Given the description of an element on the screen output the (x, y) to click on. 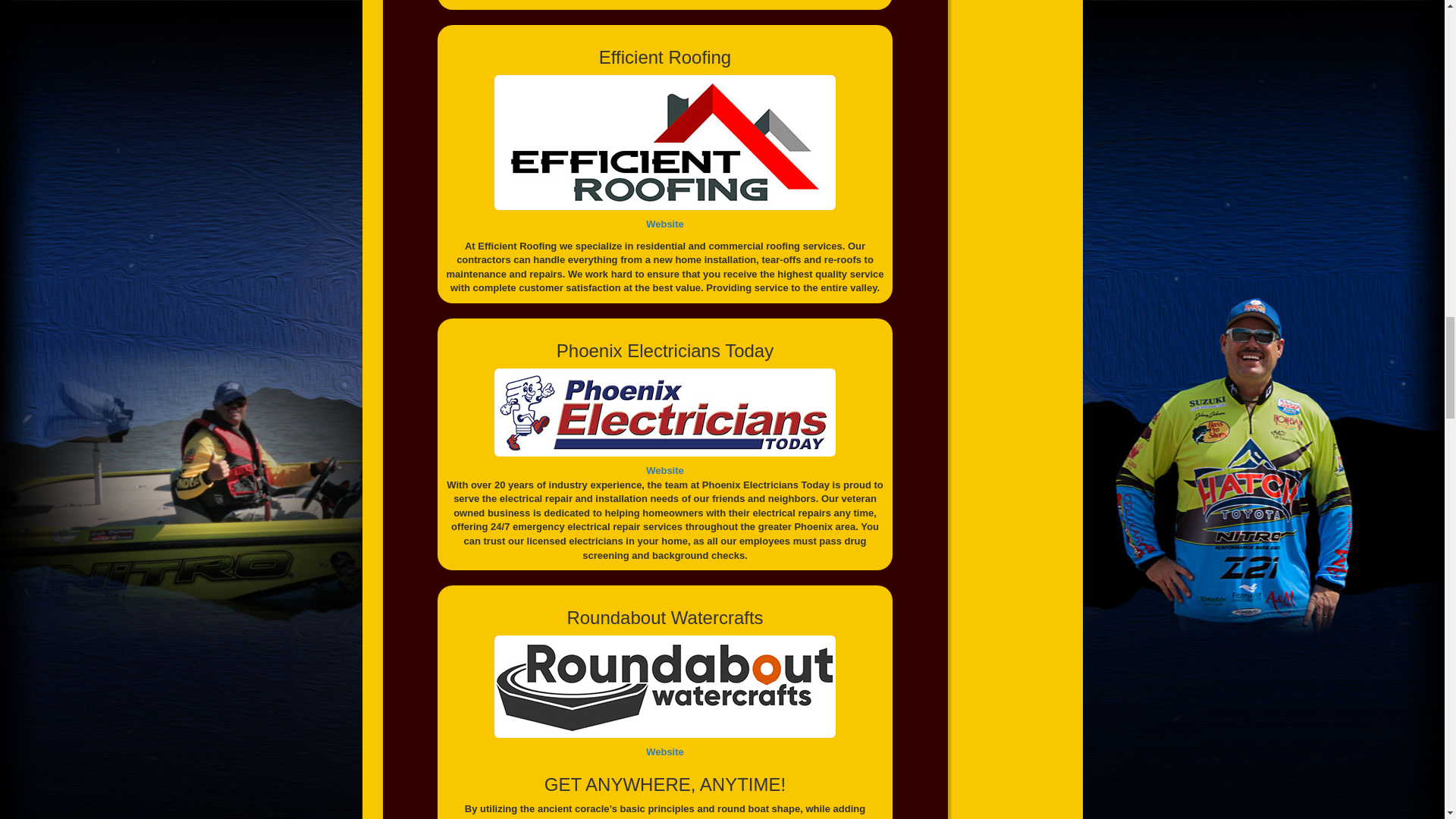
Website (665, 751)
Website (665, 470)
Website (665, 224)
